Given the description of an element on the screen output the (x, y) to click on. 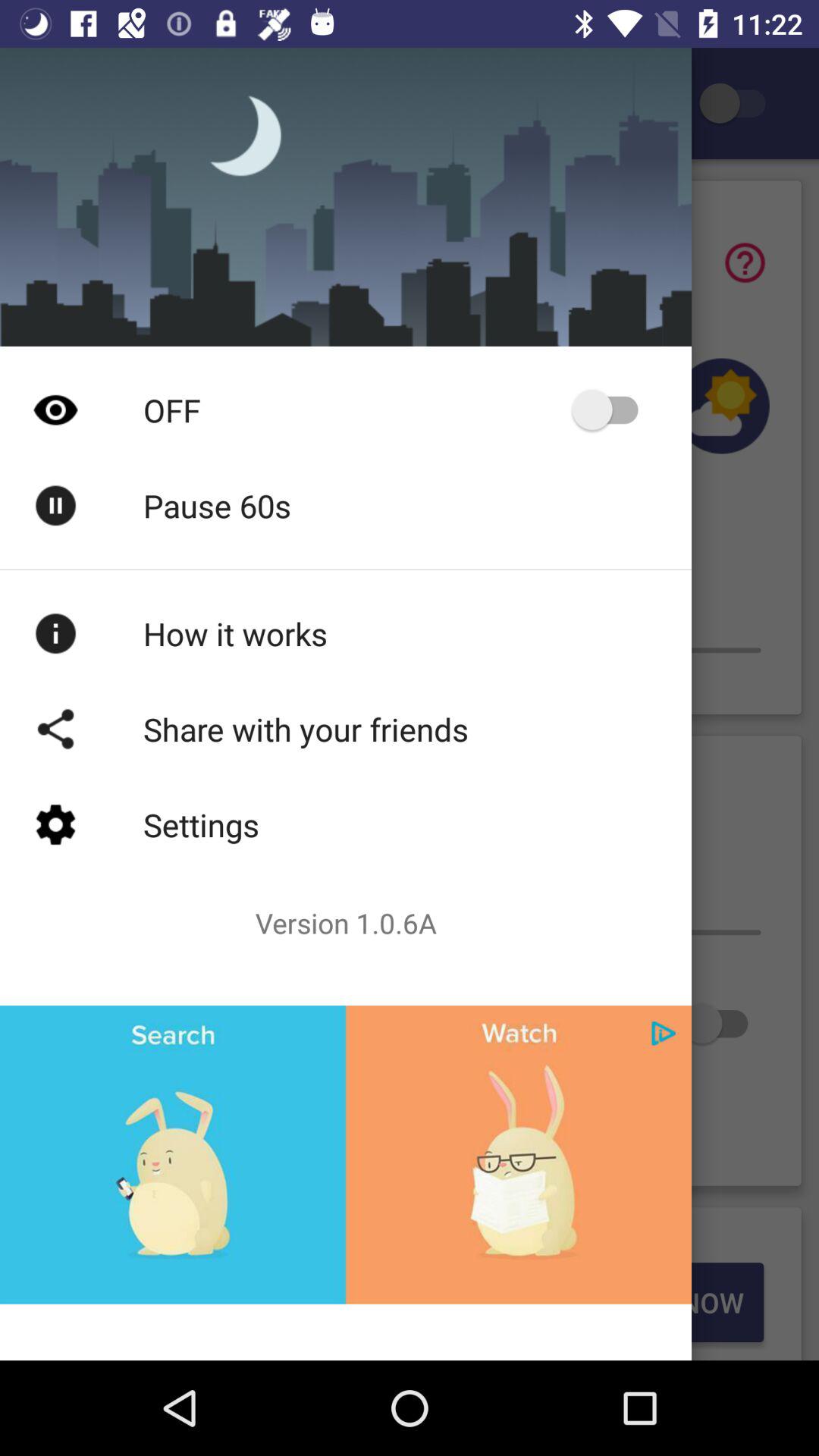
toggle blue light filter option (739, 103)
